Given the description of an element on the screen output the (x, y) to click on. 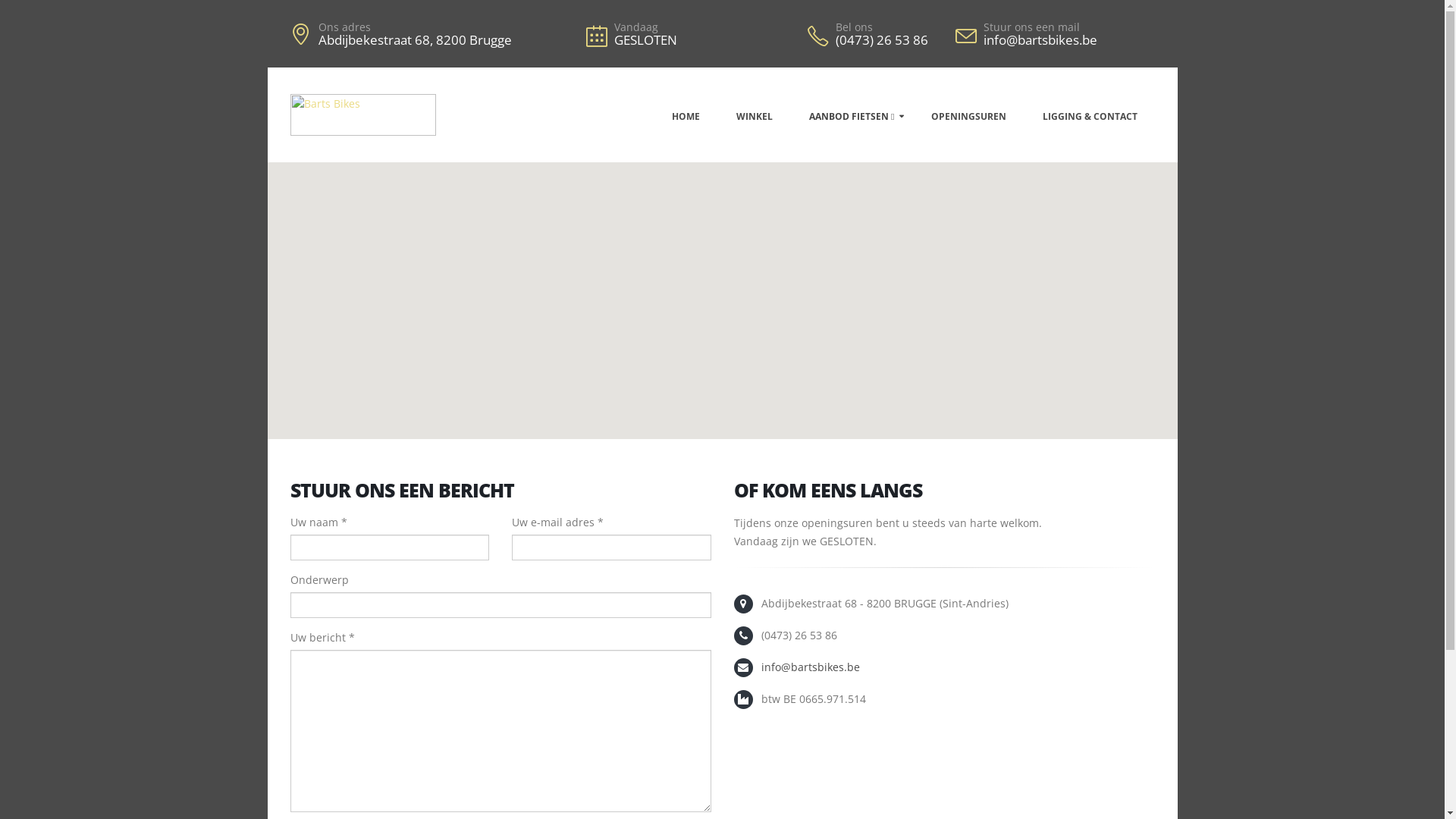
info@bartsbikes.be Element type: text (1054, 39)
info@bartsbikes.be Element type: text (810, 666)
